Given the description of an element on the screen output the (x, y) to click on. 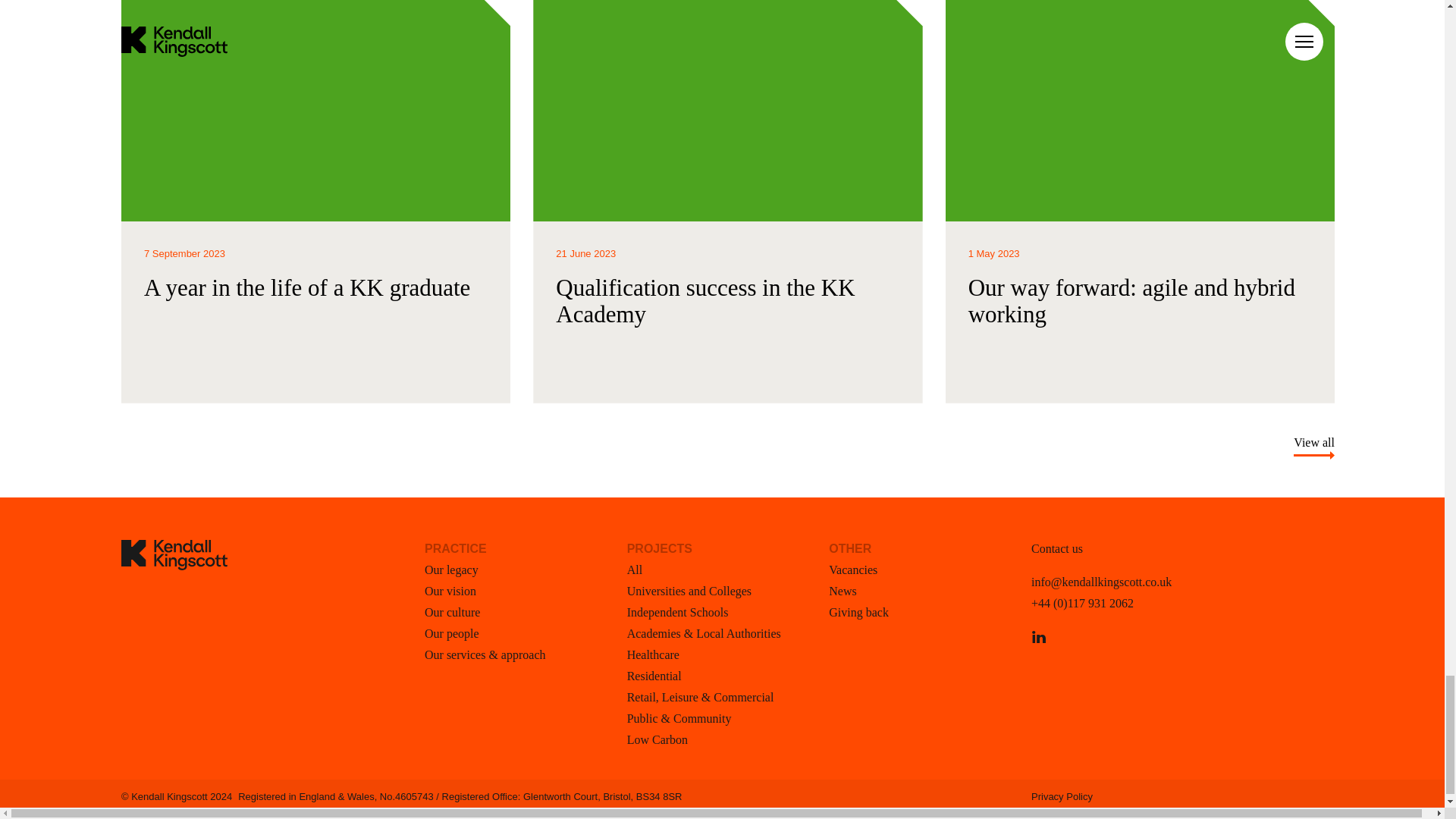
View all (1314, 443)
Our legacy (452, 569)
Our vision (450, 590)
Our culture (452, 612)
Our people (452, 633)
All (634, 569)
Kendall Kingscott (272, 644)
